Given the description of an element on the screen output the (x, y) to click on. 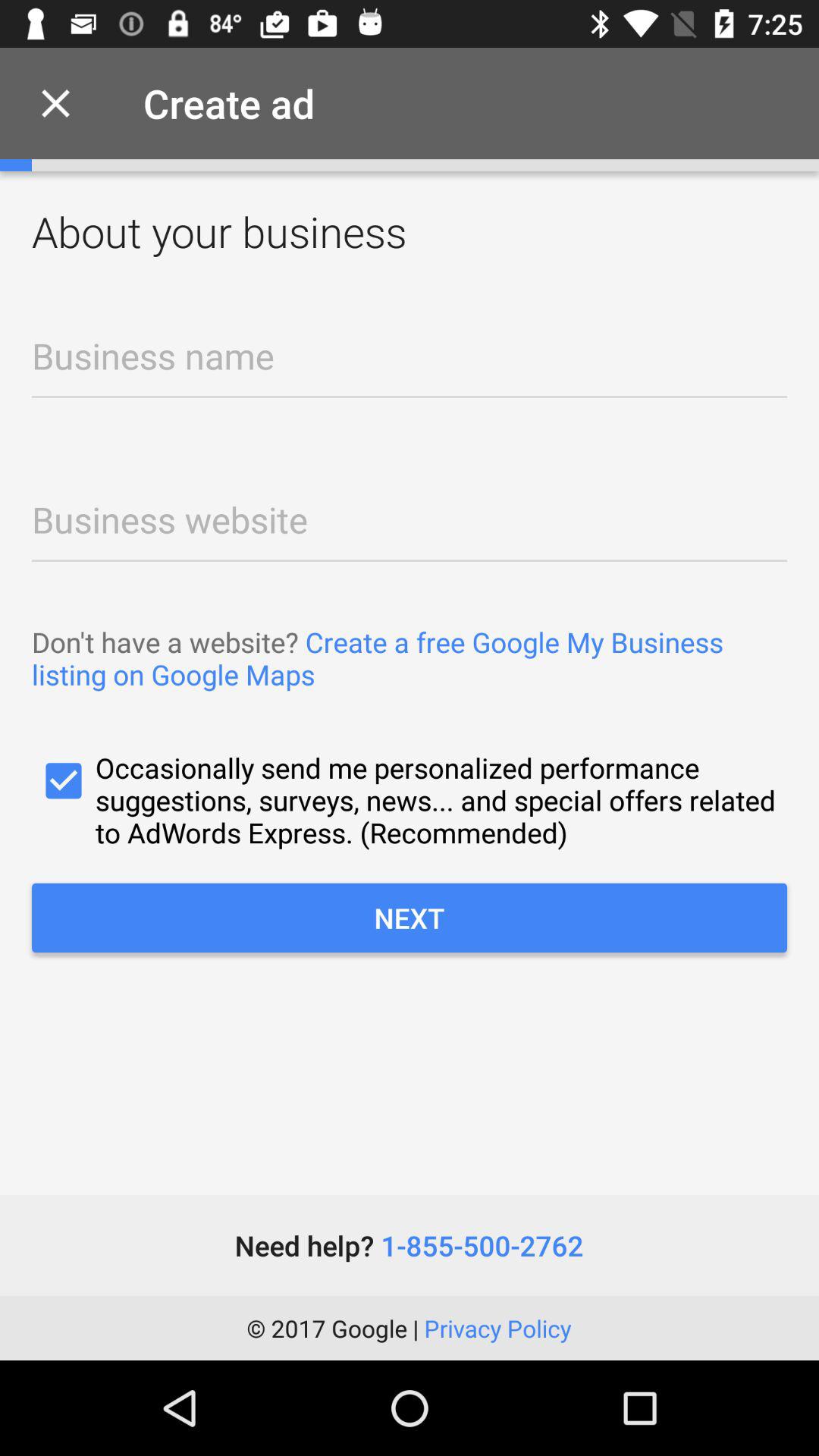
open icon below need help 1 item (408, 1328)
